Given the description of an element on the screen output the (x, y) to click on. 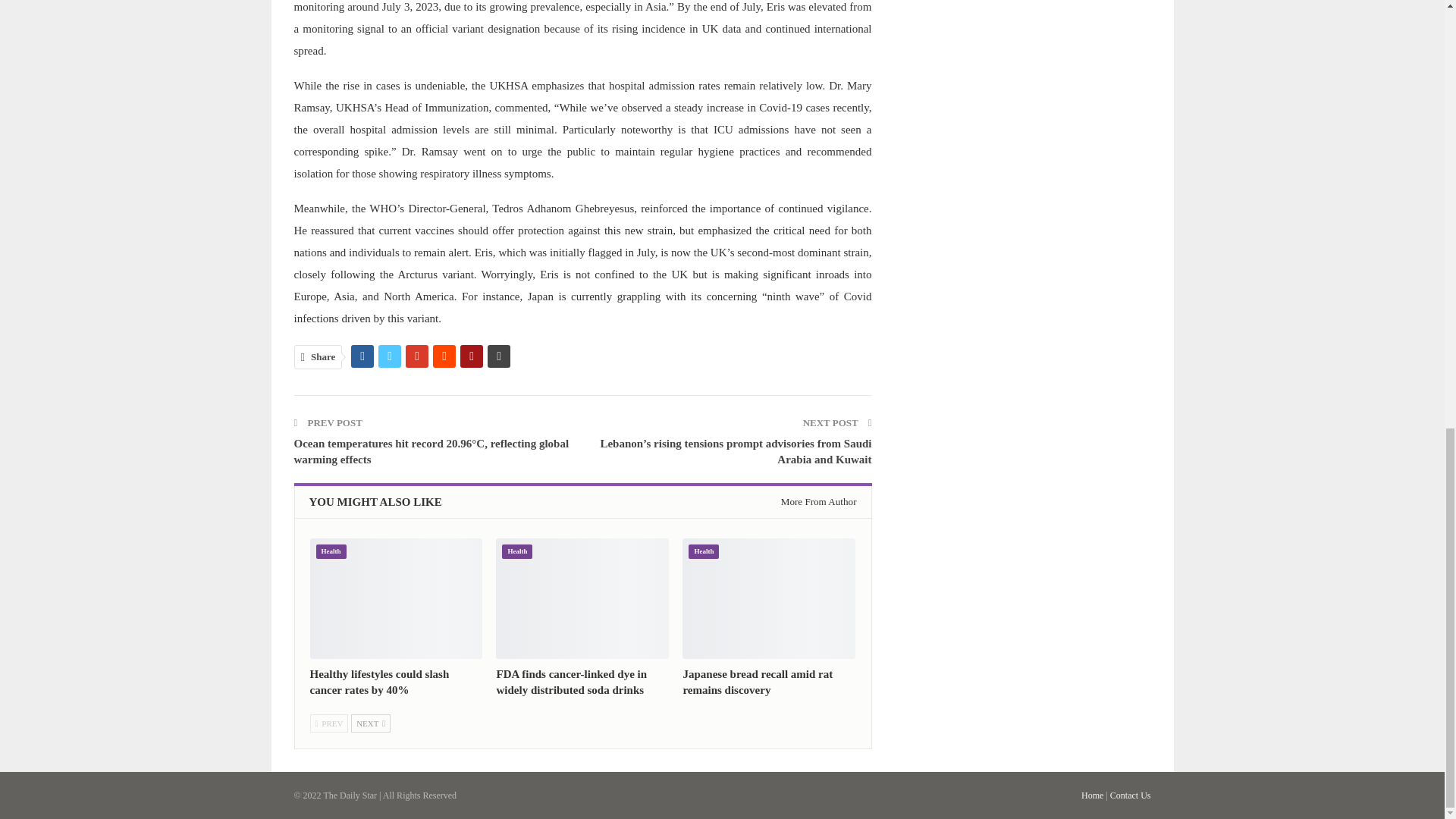
Previous (327, 723)
Next (370, 723)
Japanese bread recall amid rat remains discovery (769, 599)
Japanese bread recall amid rat remains discovery (757, 682)
